Given the description of an element on the screen output the (x, y) to click on. 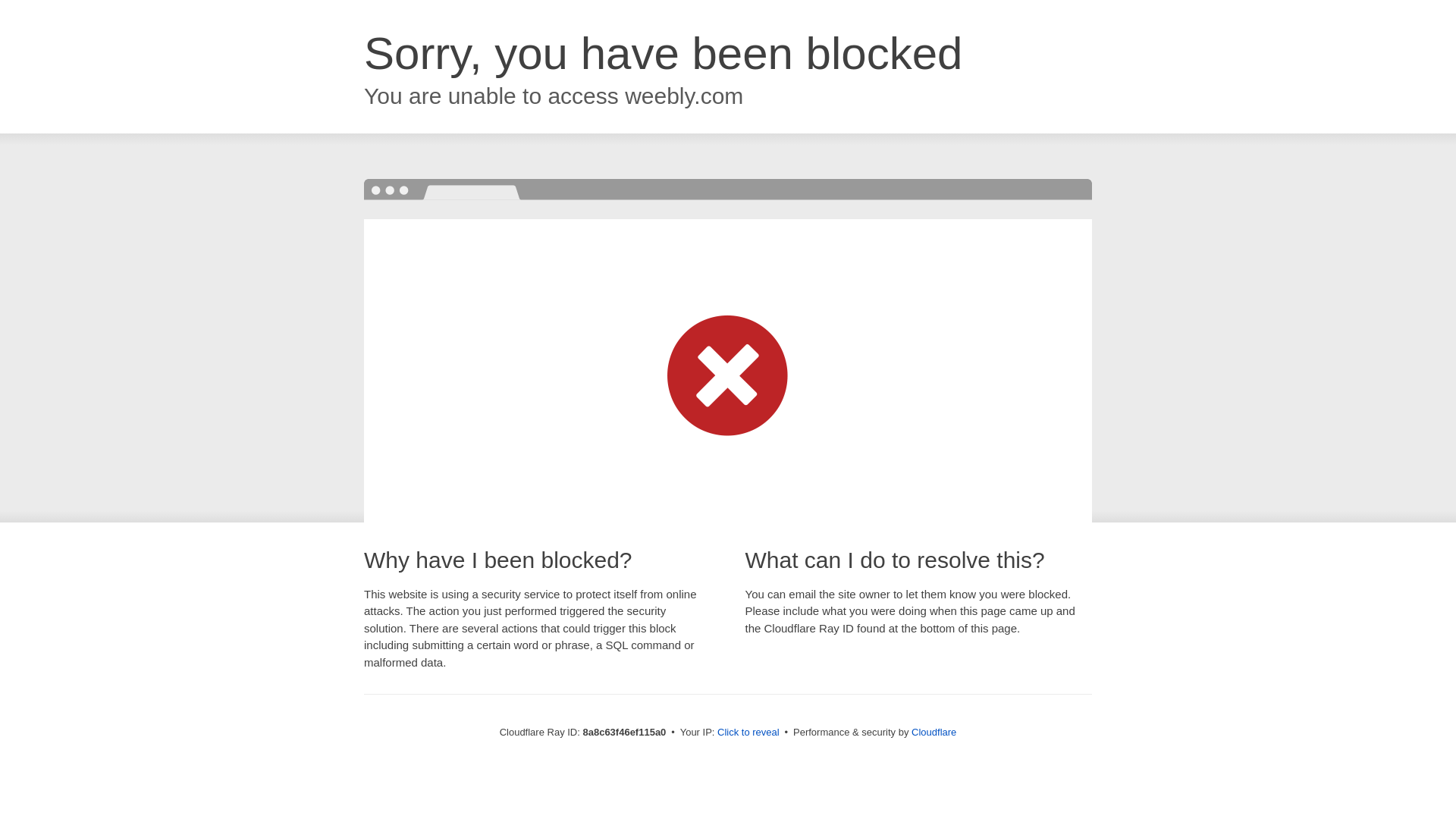
Cloudflare (933, 731)
Click to reveal (747, 732)
